Given the description of an element on the screen output the (x, y) to click on. 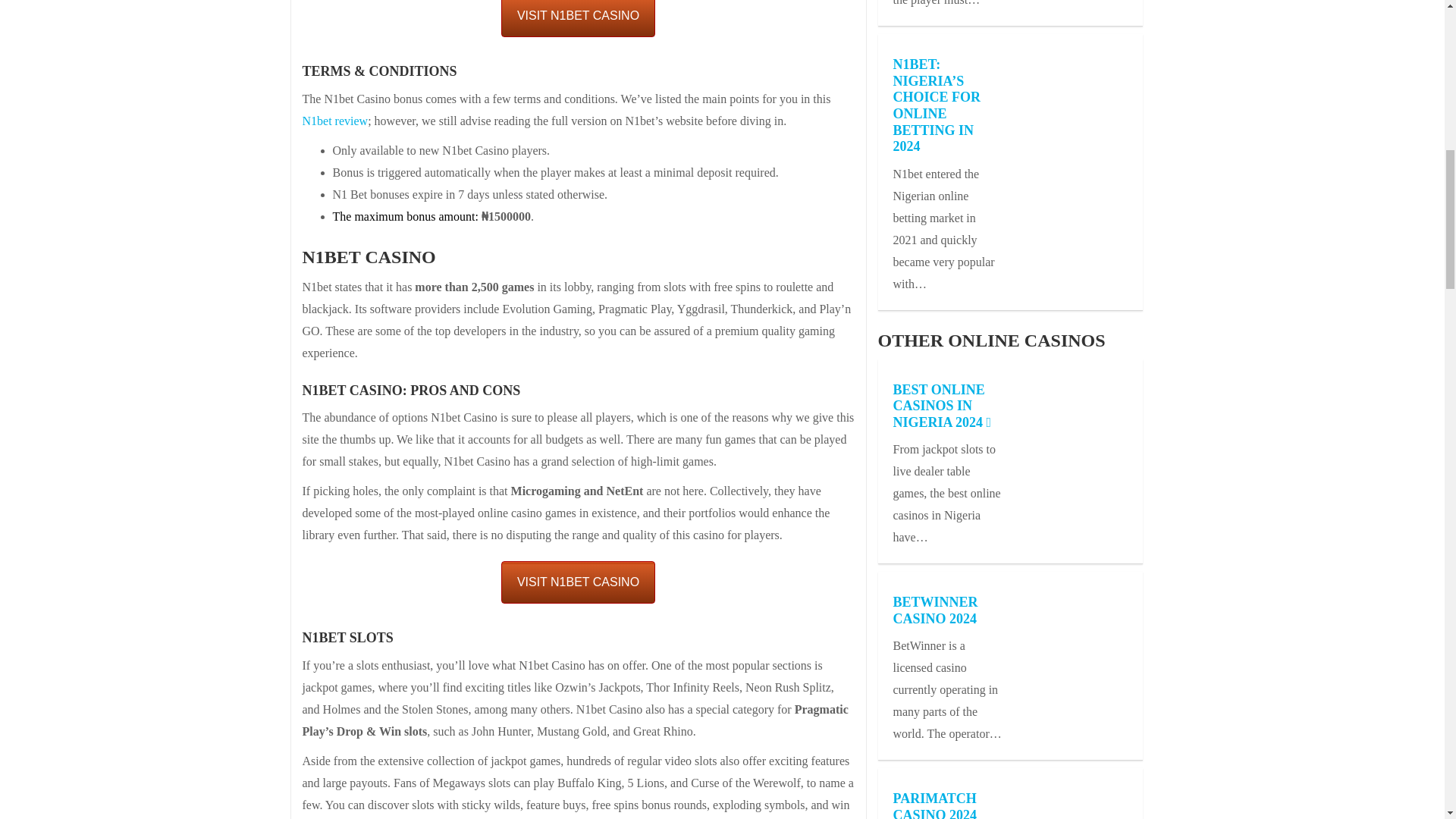
VISIT N1BET CASINO (577, 18)
